Given the description of an element on the screen output the (x, y) to click on. 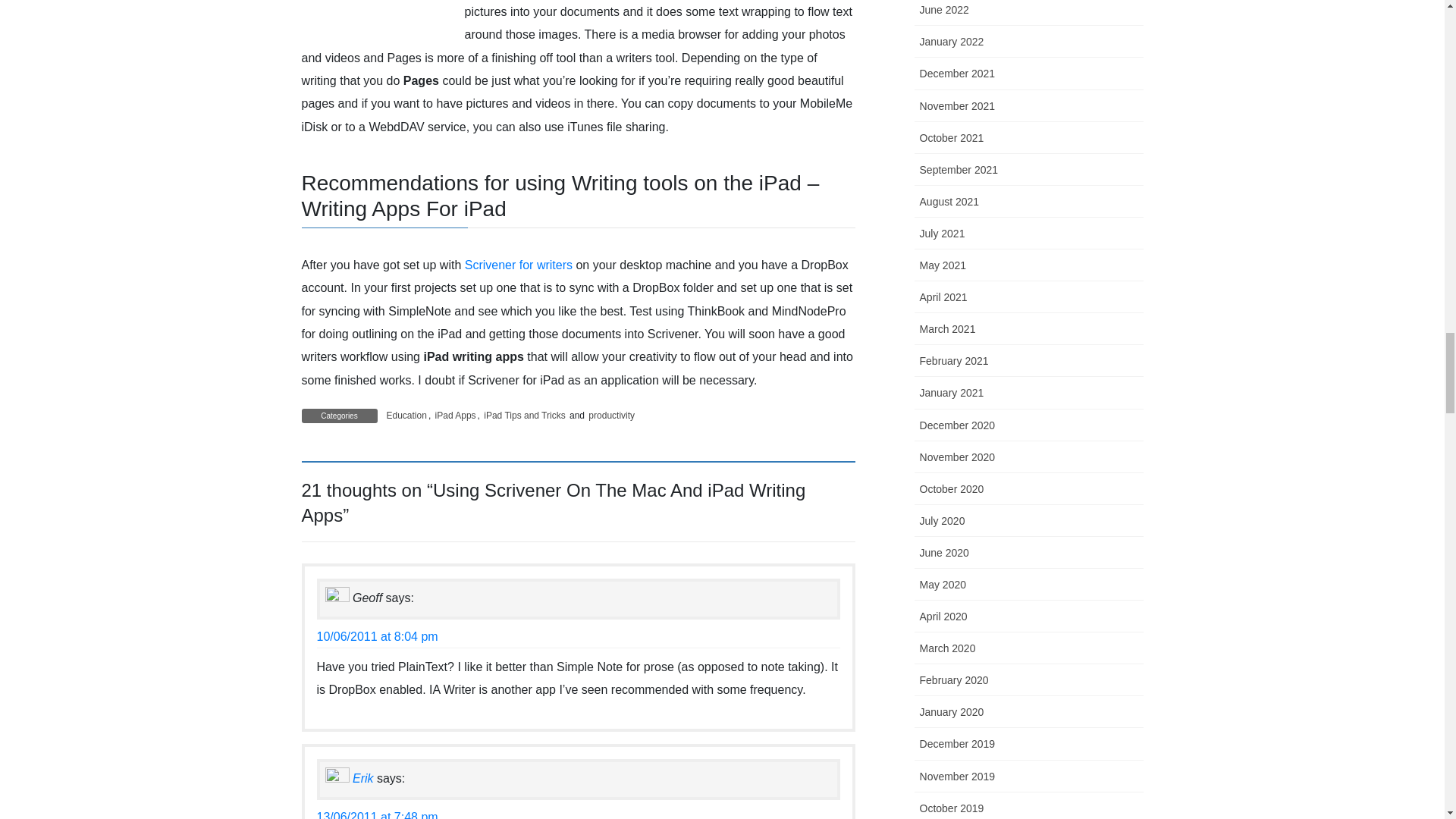
iPad Apps (455, 415)
Erik (363, 778)
productivity (611, 415)
Education (406, 415)
iPad Tips and Tricks (523, 415)
Scrivener for writers (518, 264)
